Given the description of an element on the screen output the (x, y) to click on. 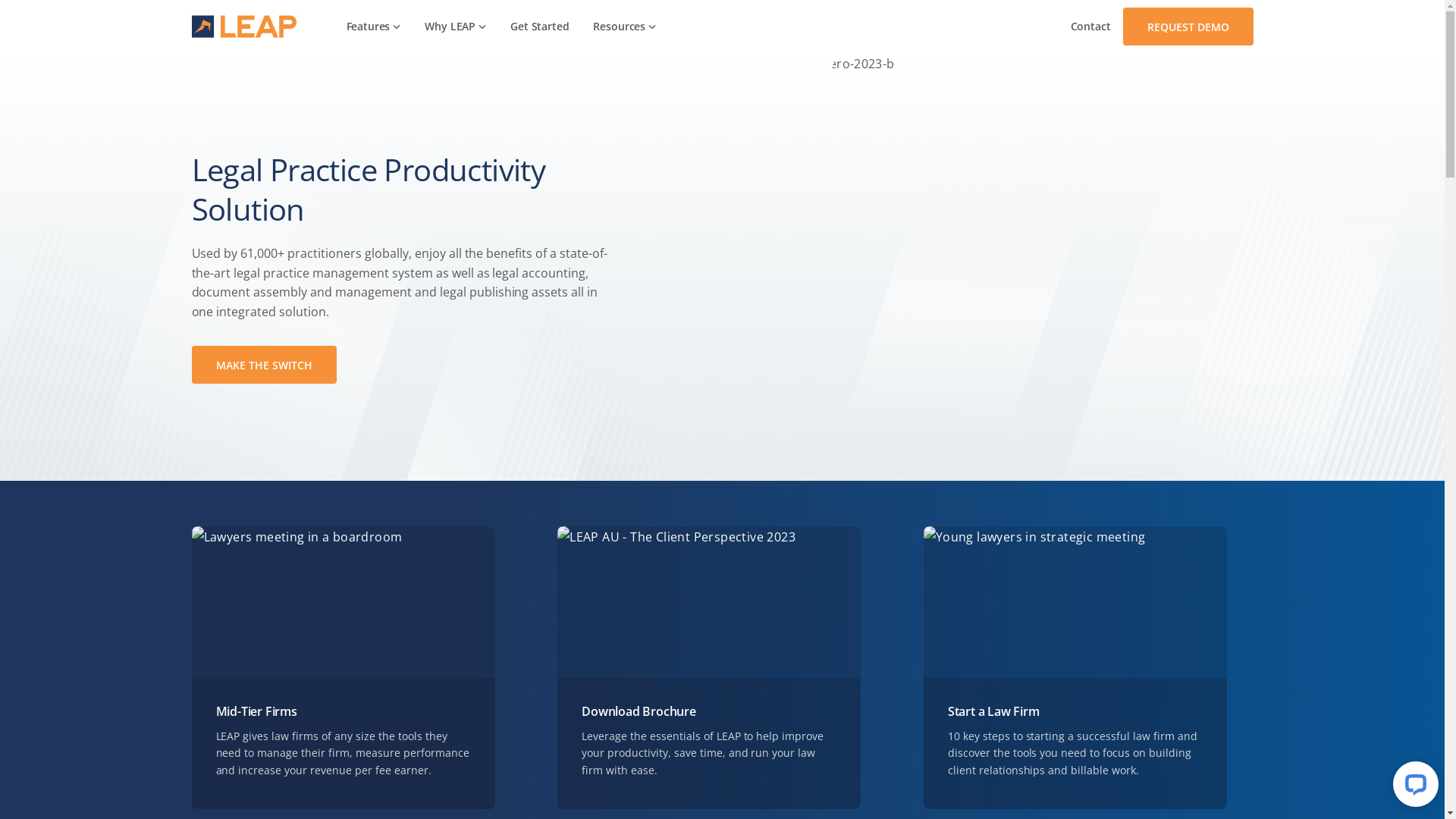
Contact Element type: text (1090, 26)
MAKE THE SWITCH Element type: text (263, 364)
Get Started Element type: text (539, 26)
REQUEST DEMO Element type: text (1187, 26)
